Given the description of an element on the screen output the (x, y) to click on. 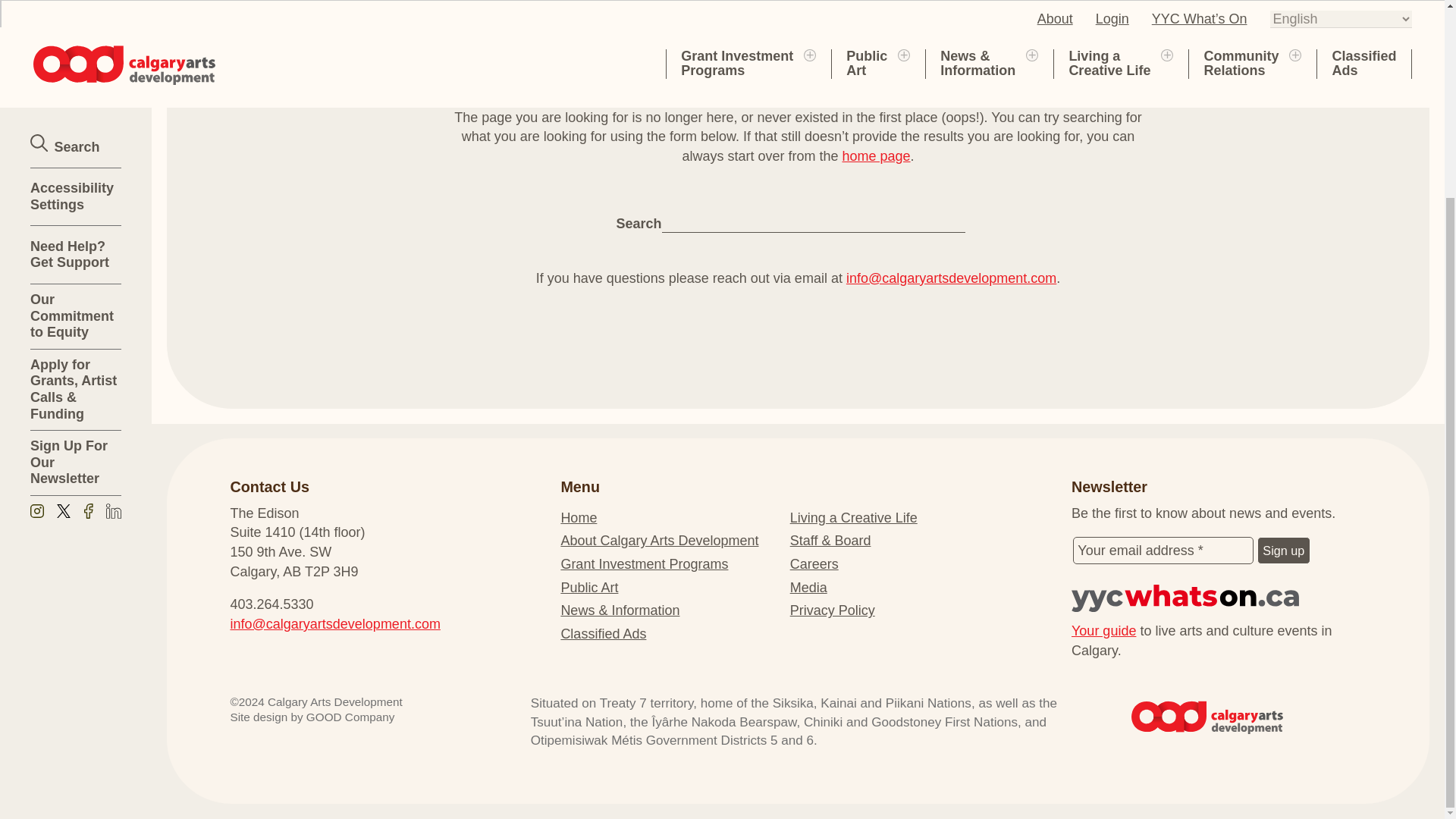
YYC What's On (1219, 597)
Facebook (88, 262)
Instagram (36, 262)
Twitter (62, 262)
LinkedIn (113, 262)
